Given the description of an element on the screen output the (x, y) to click on. 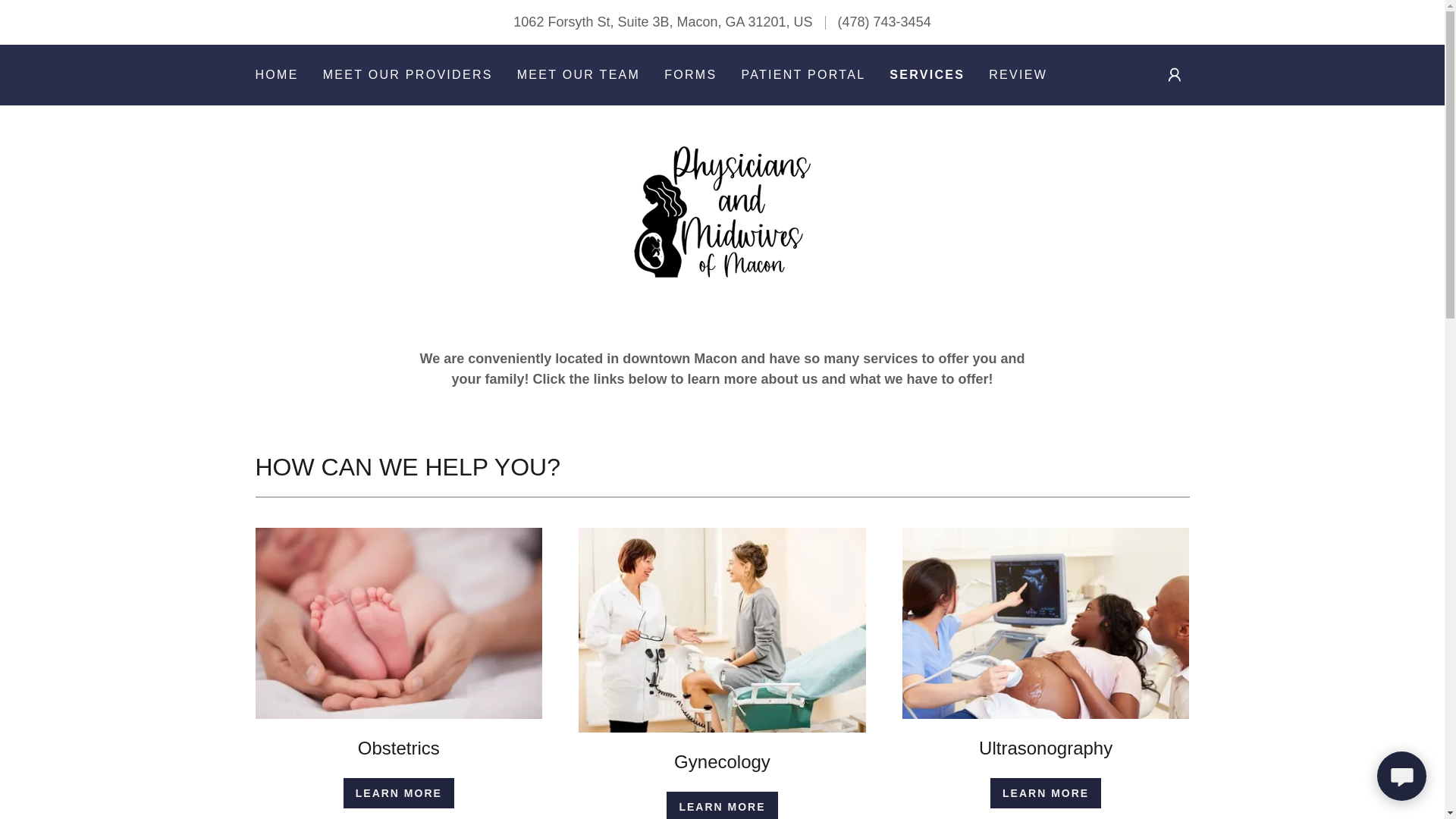
LEARN MORE (1045, 793)
MEET OUR PROVIDERS (407, 74)
PATIENT PORTAL (802, 74)
FORMS (689, 74)
LEARN MORE (721, 805)
LEARN MORE (398, 793)
MEET OUR TEAM (578, 74)
HOME (276, 74)
REVIEW (1017, 74)
SERVICES (926, 75)
